Given the description of an element on the screen output the (x, y) to click on. 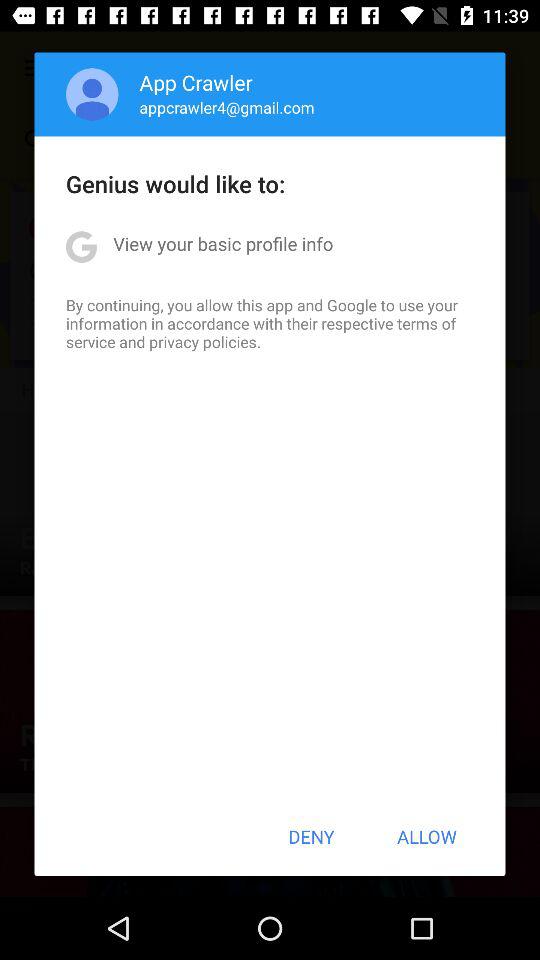
swipe to app crawler icon (195, 82)
